Given the description of an element on the screen output the (x, y) to click on. 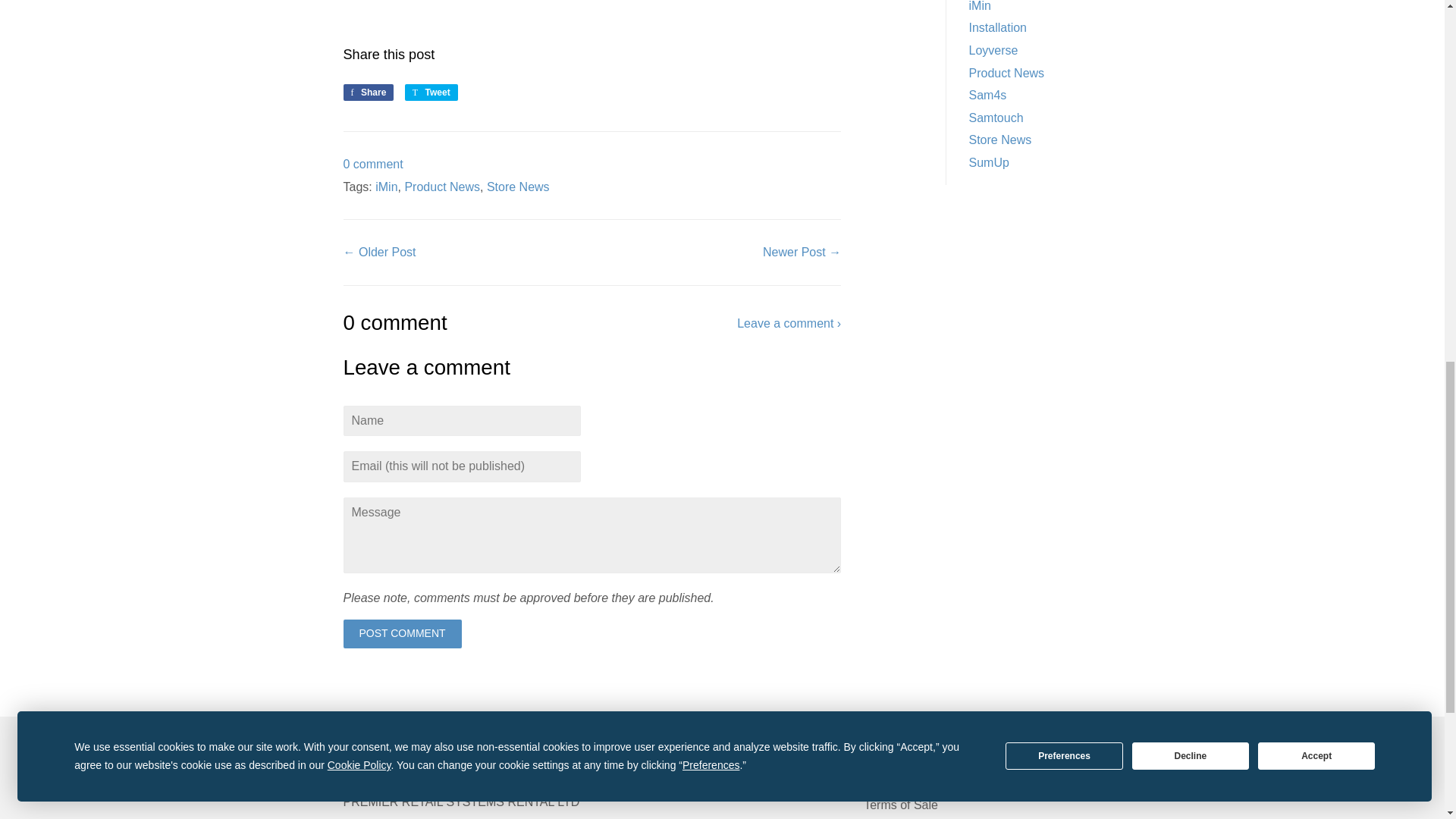
Post comment (401, 633)
Share on Facebook (367, 92)
Tweet on Twitter (431, 92)
Show articles tagged iMin (980, 6)
